Given the description of an element on the screen output the (x, y) to click on. 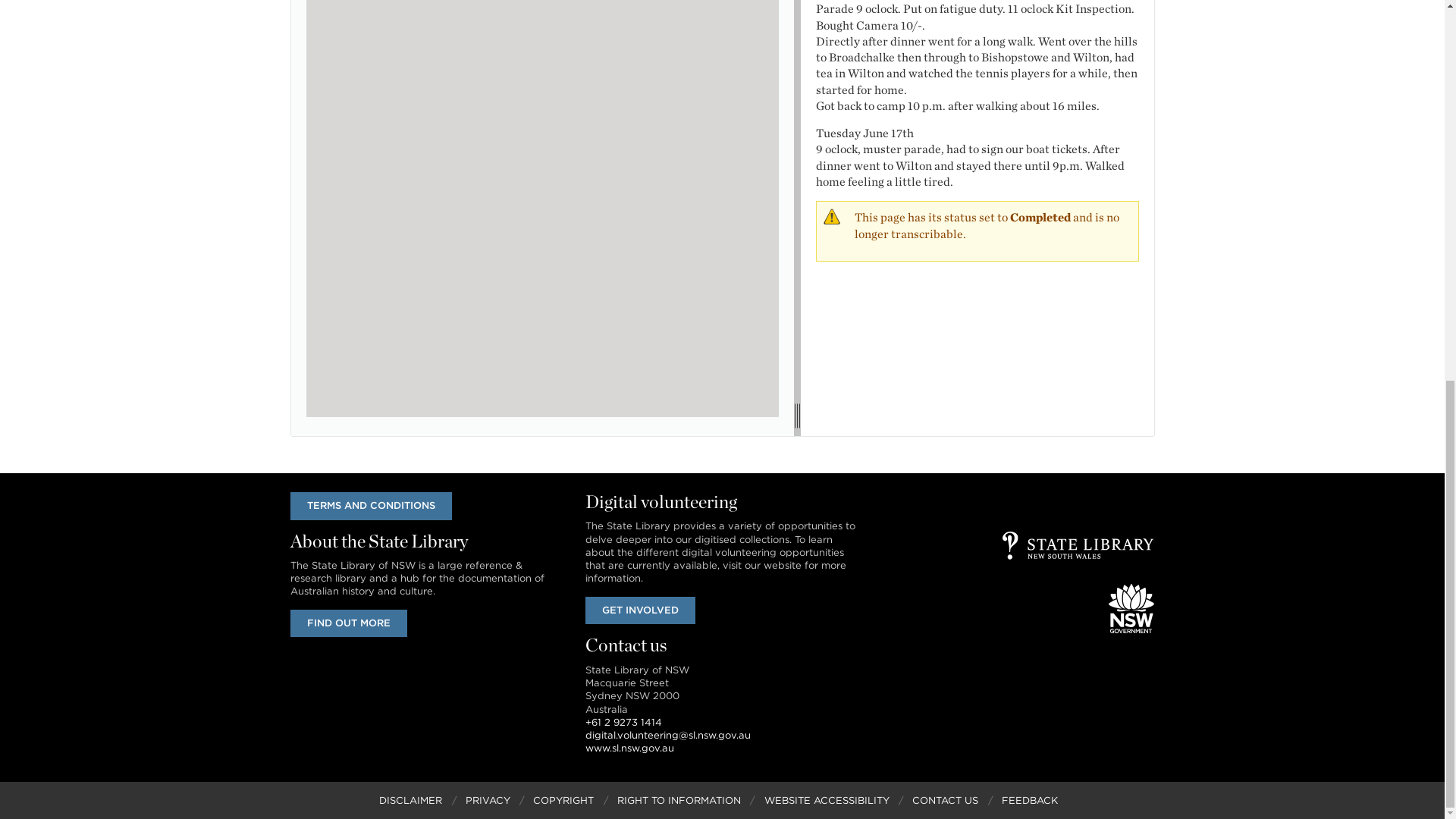
State Library of NSW (1078, 545)
NSW Government (1131, 608)
